Given the description of an element on the screen output the (x, y) to click on. 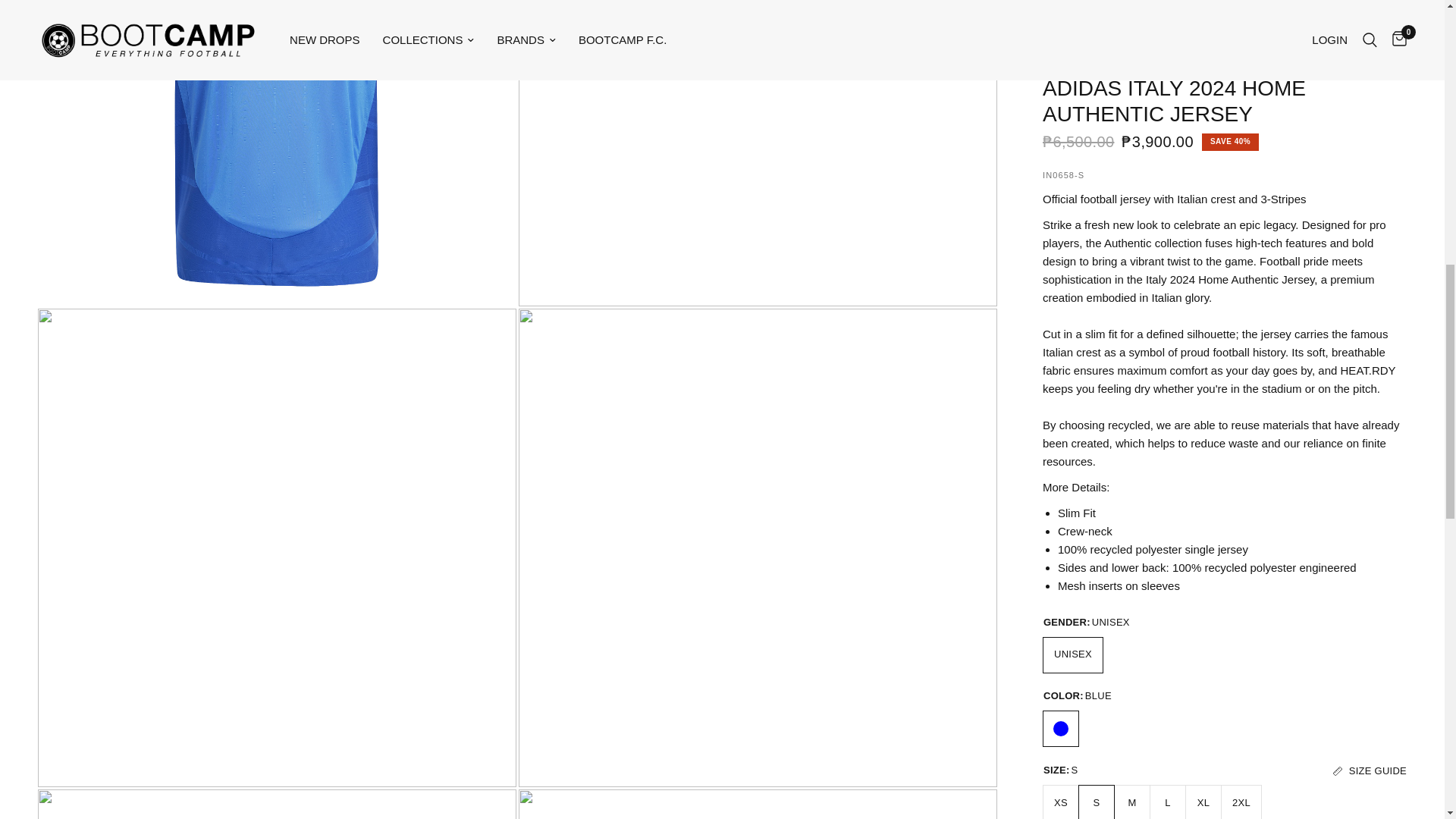
1 (1074, 133)
